Given the description of an element on the screen output the (x, y) to click on. 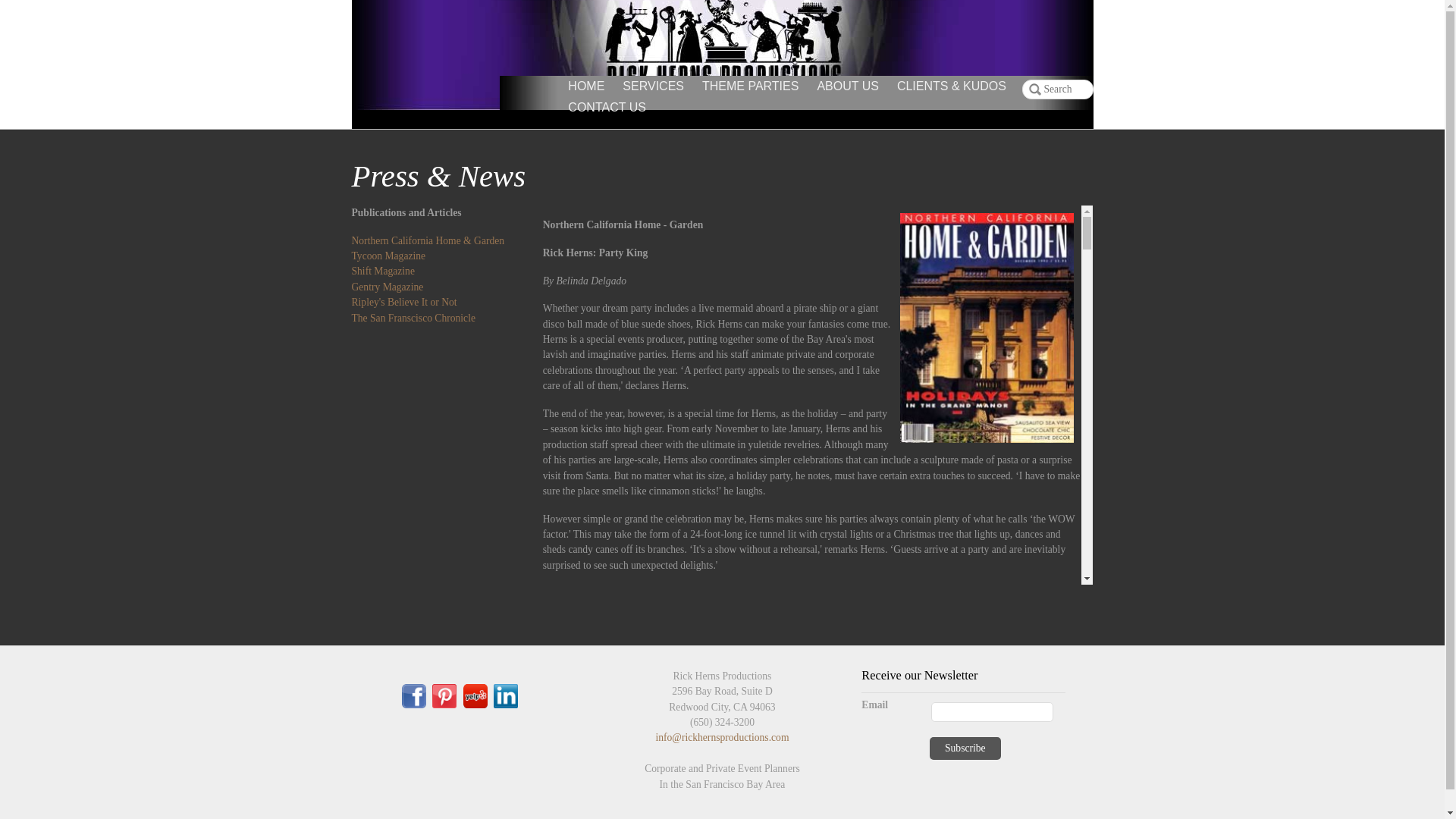
ABOUT US (848, 86)
THEME PARTIES (750, 86)
Ripley's Believe It or Not (404, 301)
Yelp (475, 695)
Shift Magazine (383, 270)
Tycoon Magazine (389, 255)
CONTACT US (607, 107)
Subscribe (965, 748)
Gentry Magazine (387, 286)
HOME (585, 86)
The San Franscisco Chronicle (414, 317)
Subscribe (965, 748)
Pinterest (444, 695)
LinkedIn (505, 695)
Facebook (413, 695)
